Given the description of an element on the screen output the (x, y) to click on. 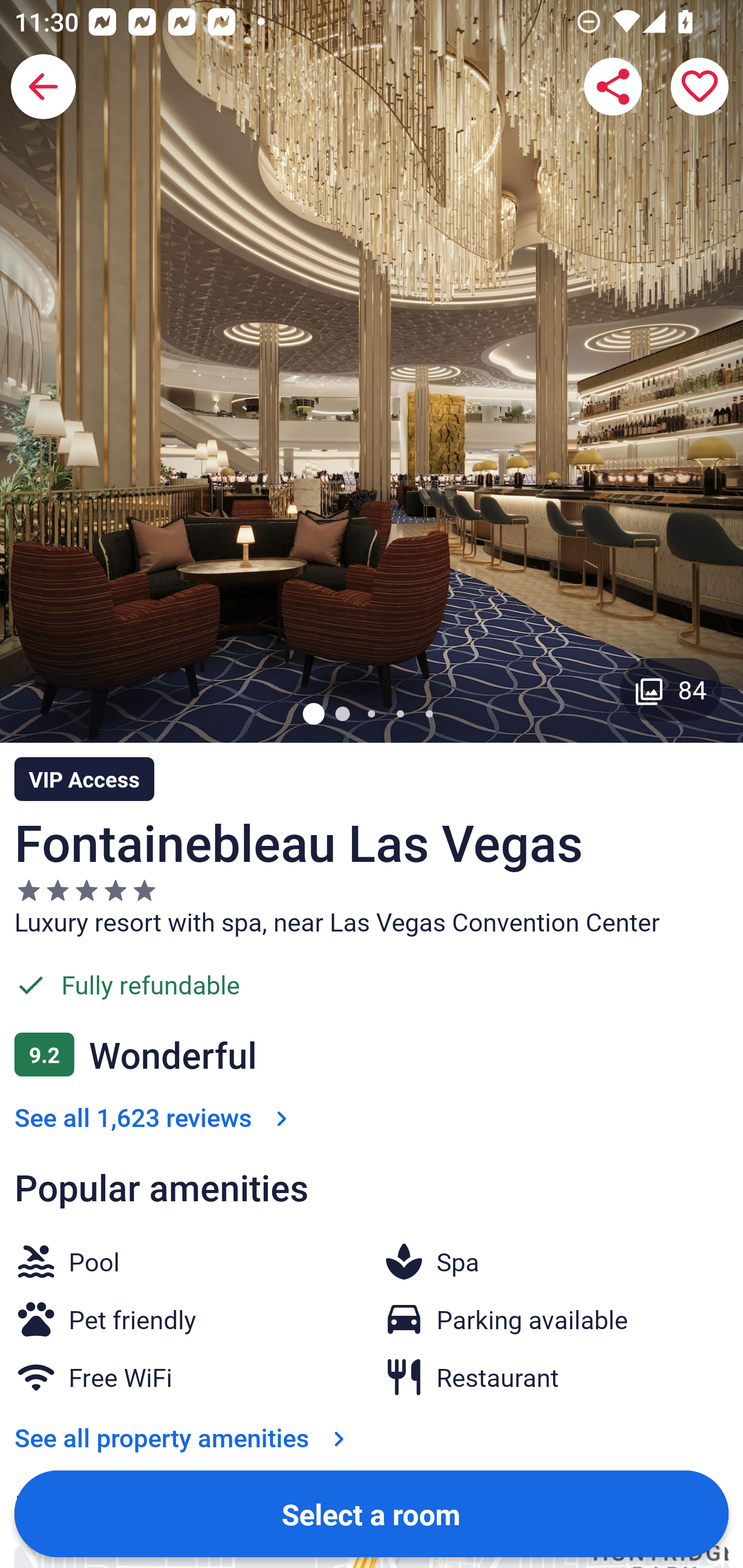
Back (43, 86)
Save property to a trip (699, 86)
Share Fontainebleau Las Vegas (612, 87)
Gallery button with 84 images (670, 689)
See all 1,623 reviews See all 1,623 reviews Link (154, 1117)
See all property amenities (183, 1436)
Select a room Button Select a room (371, 1513)
